Given the description of an element on the screen output the (x, y) to click on. 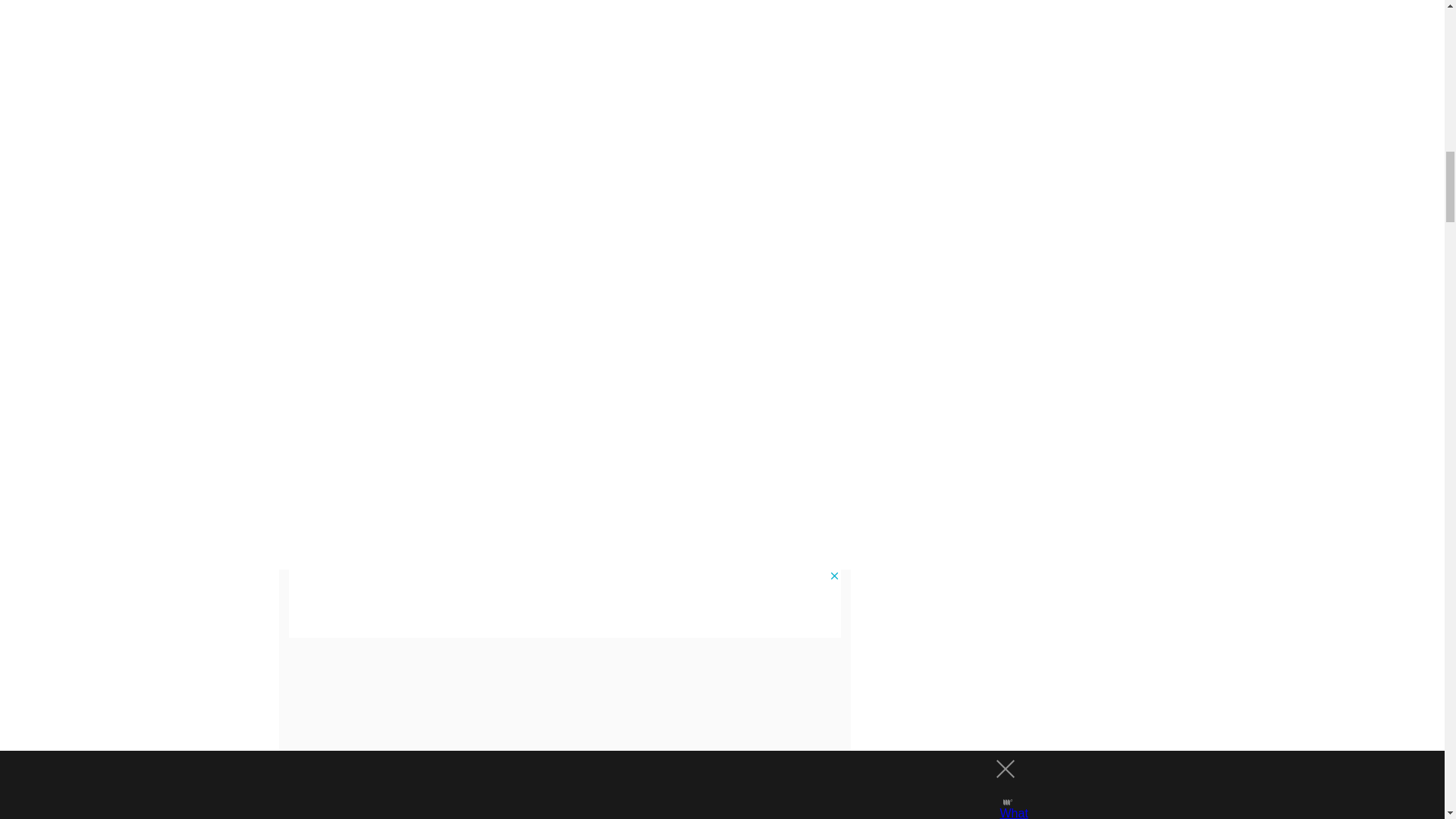
3rd party ad content (564, 603)
